Given the description of an element on the screen output the (x, y) to click on. 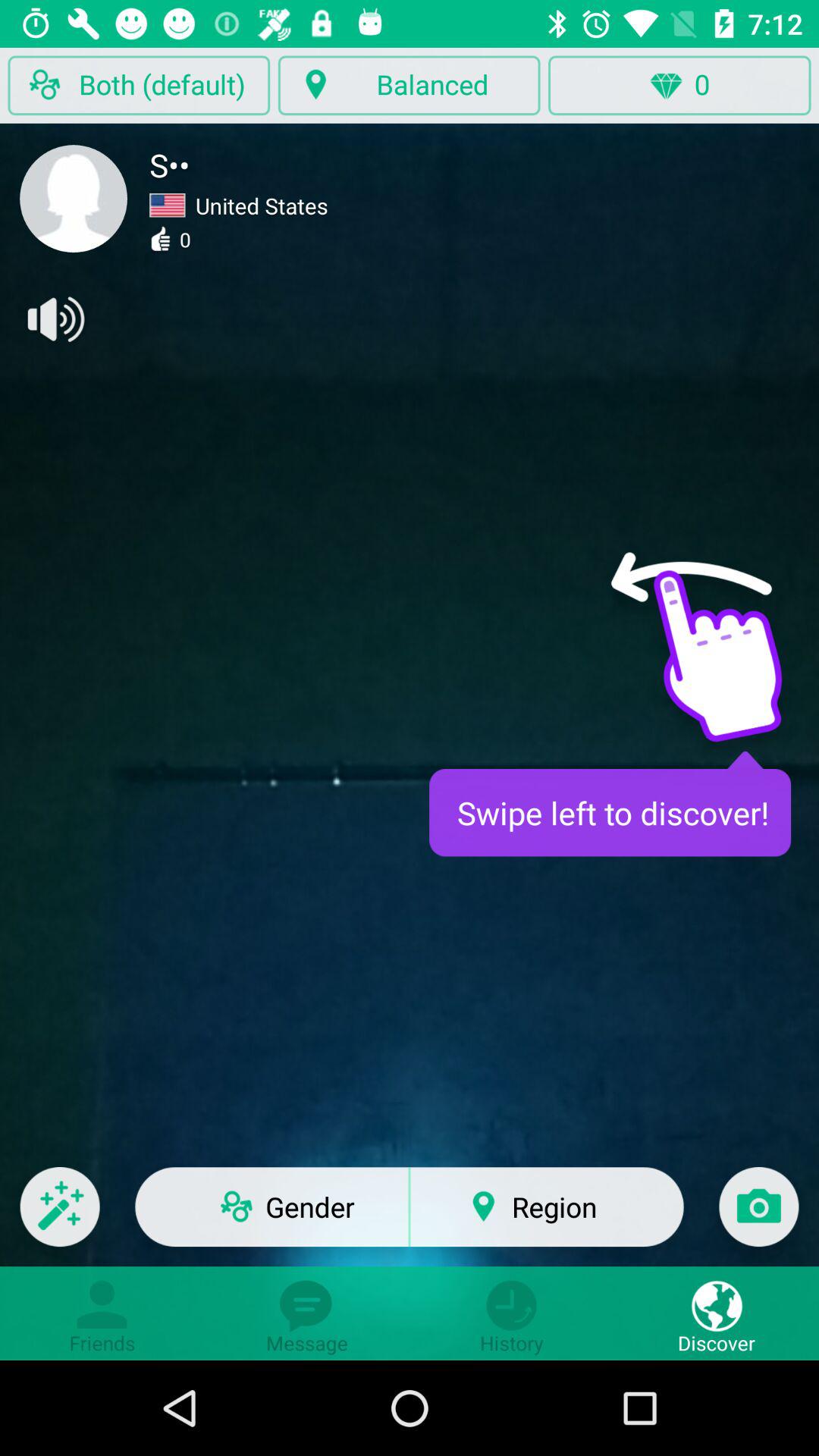
magic wand (59, 1216)
